Given the description of an element on the screen output the (x, y) to click on. 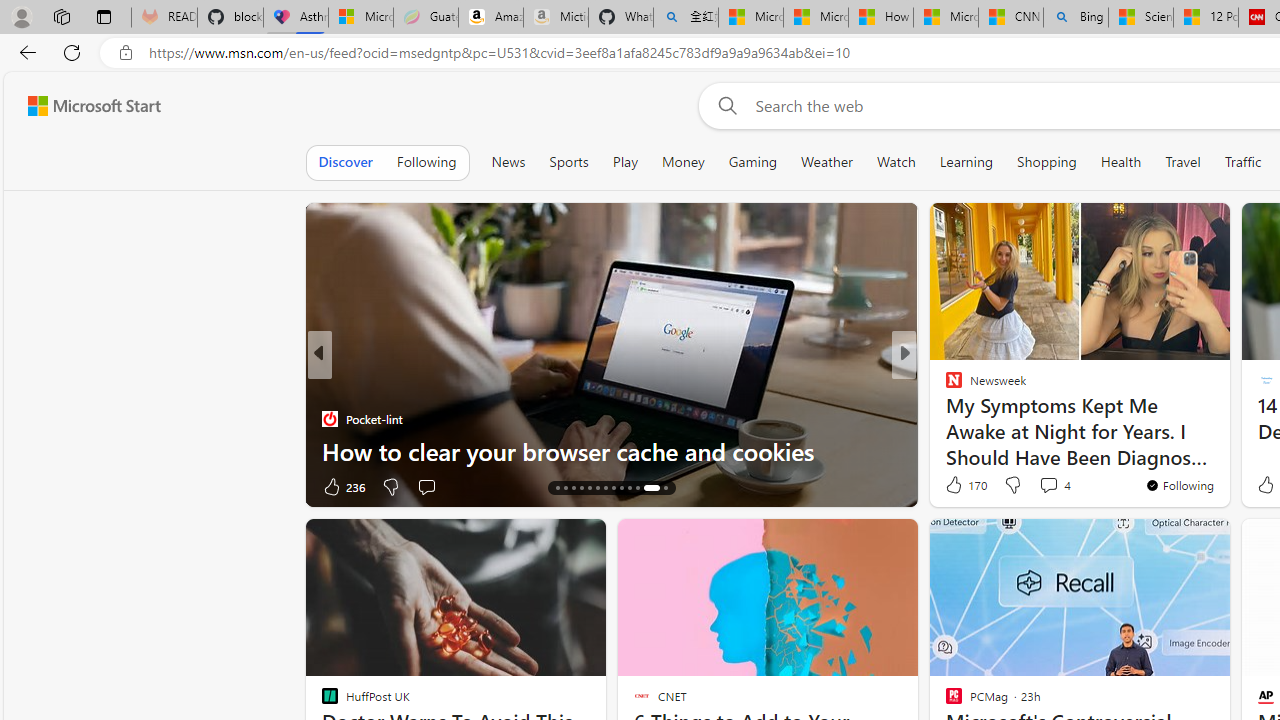
Skip to footer (82, 105)
Watch (895, 161)
Microsoft-Report a Concern to Bing (360, 17)
Skip to content (86, 105)
Traffic (1242, 162)
Money (682, 161)
Gaming (752, 161)
Asthma Inhalers: Names and Types (295, 17)
12 Popular Science Lies that Must be Corrected (1205, 17)
Sports (568, 161)
Learning (966, 162)
Discover (345, 161)
